Given the description of an element on the screen output the (x, y) to click on. 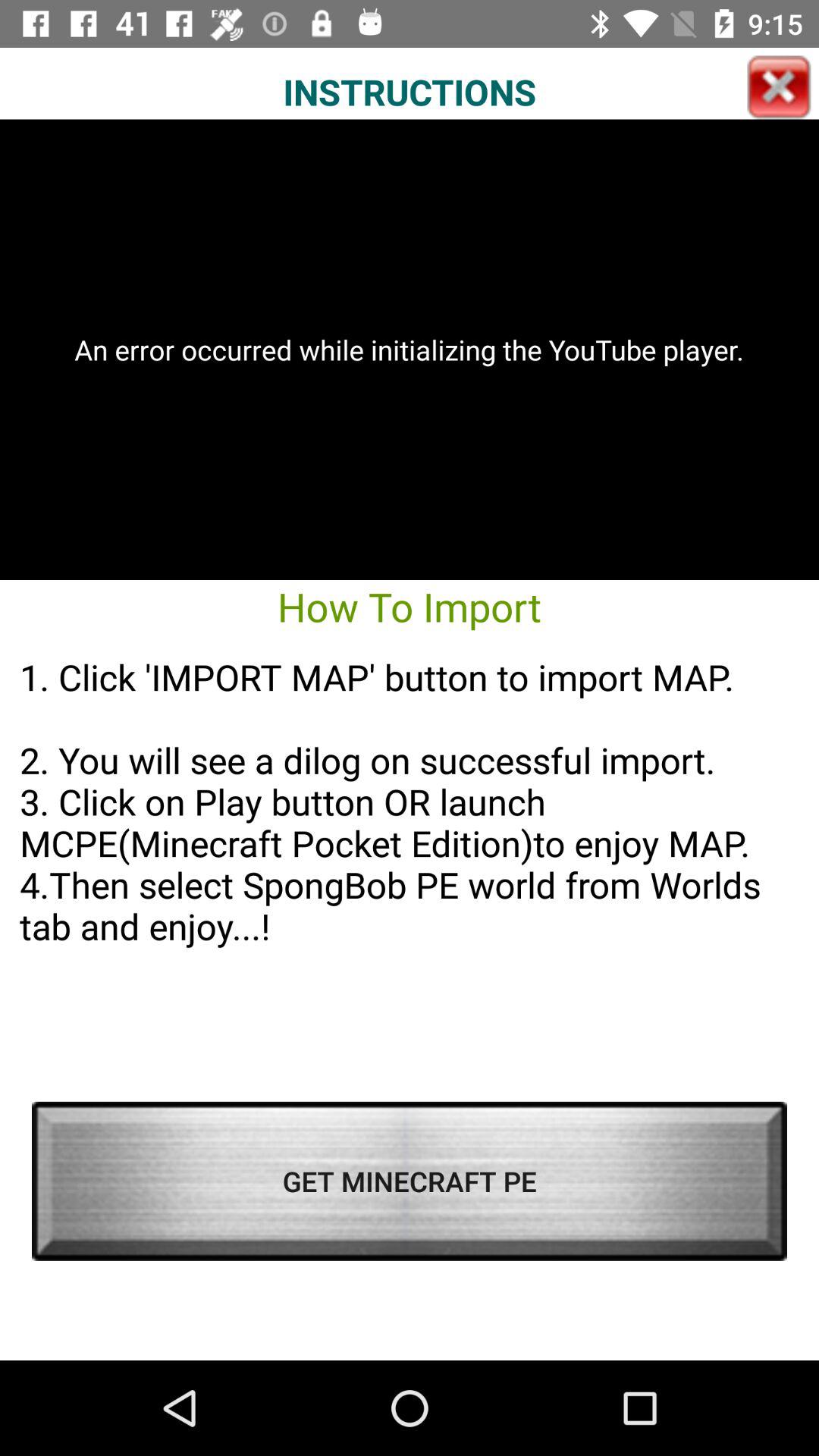
scroll to get minecraft pe (409, 1180)
